Given the description of an element on the screen output the (x, y) to click on. 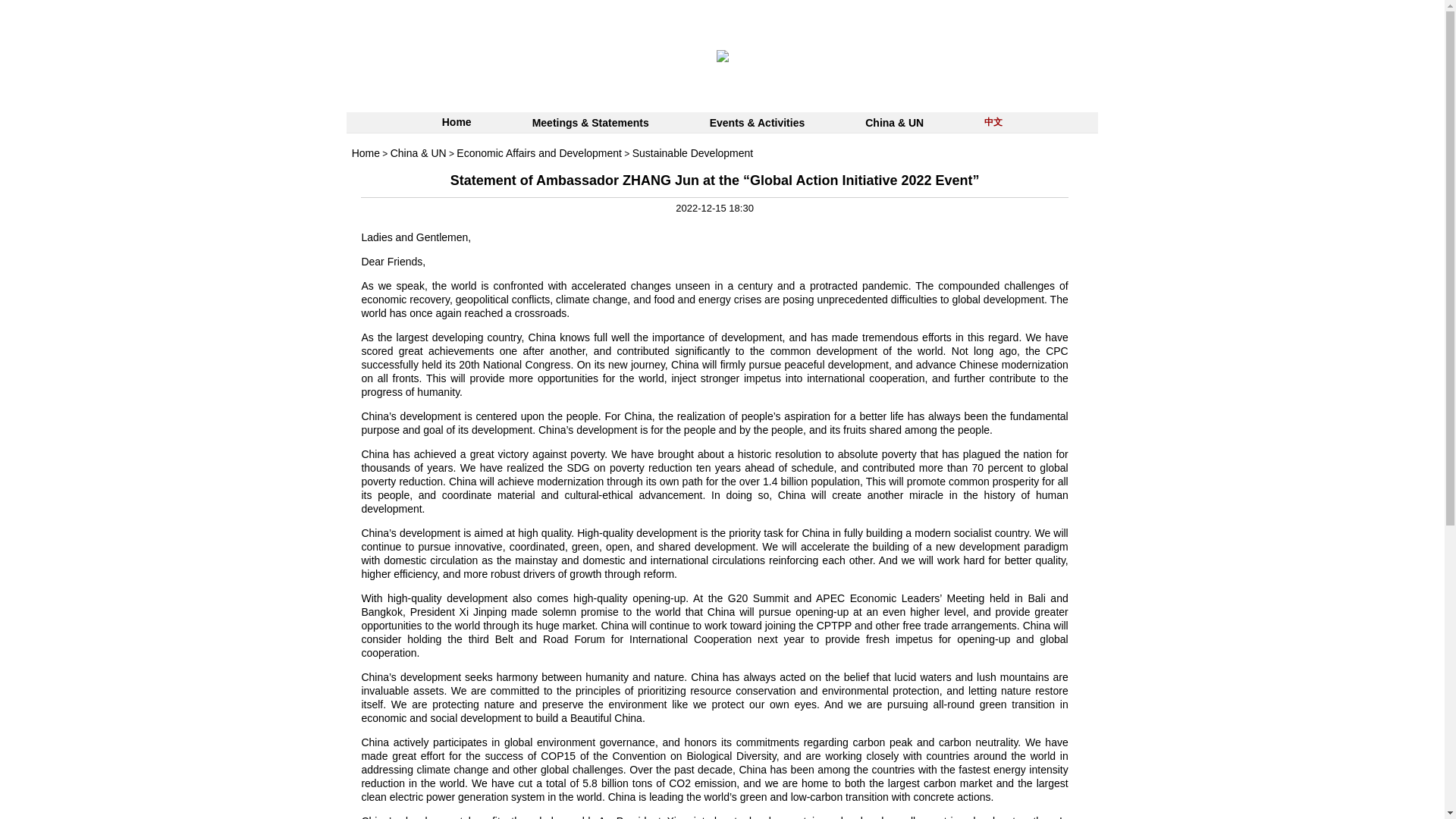
Sustainable Development (692, 152)
Home (456, 122)
Economic Affairs and Development (539, 152)
Economic Affairs and Development (539, 152)
Home (366, 152)
Home (366, 152)
Sustainable Development (692, 152)
